Given the description of an element on the screen output the (x, y) to click on. 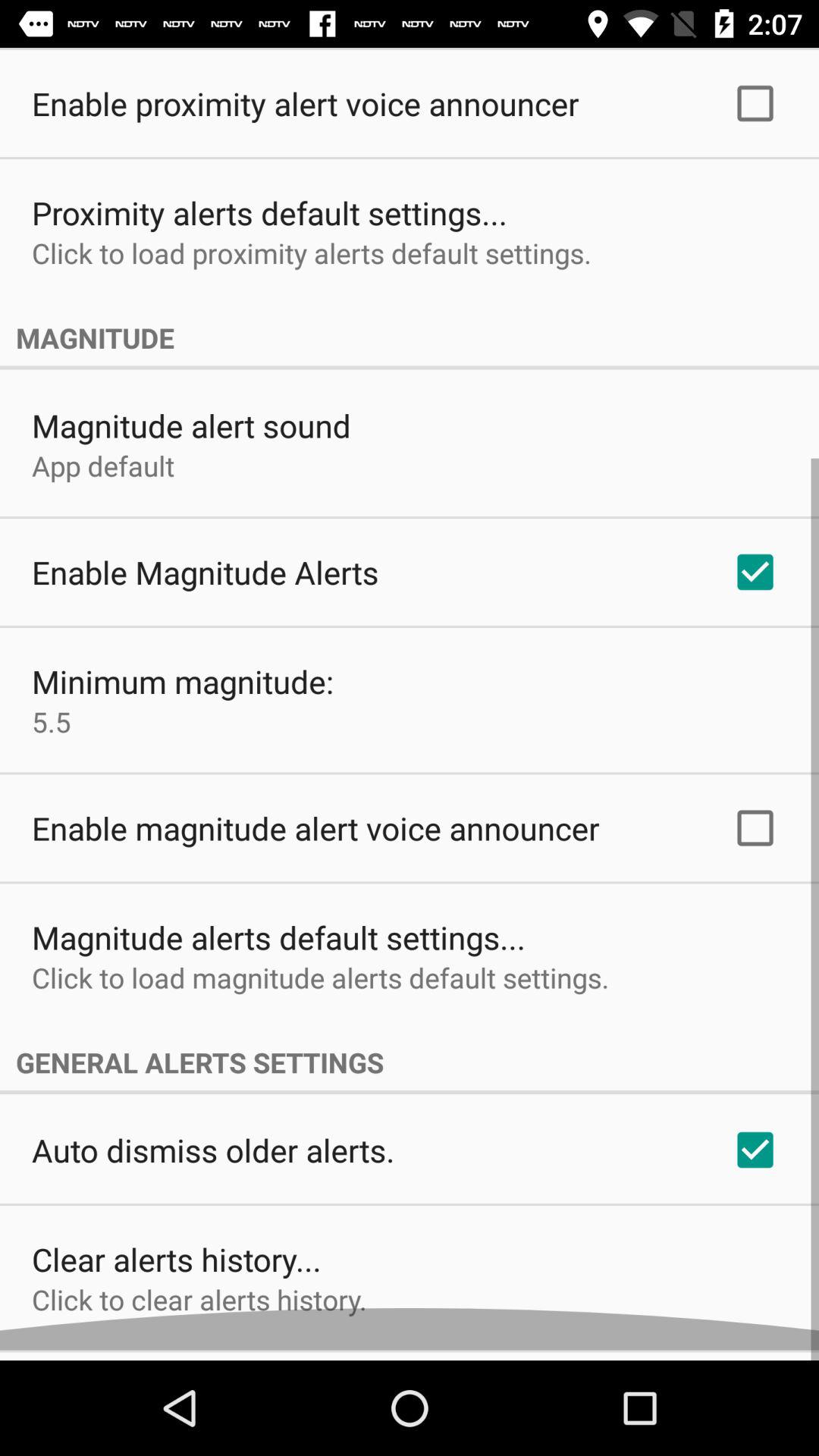
tap the 5.5 icon (51, 731)
